Given the description of an element on the screen output the (x, y) to click on. 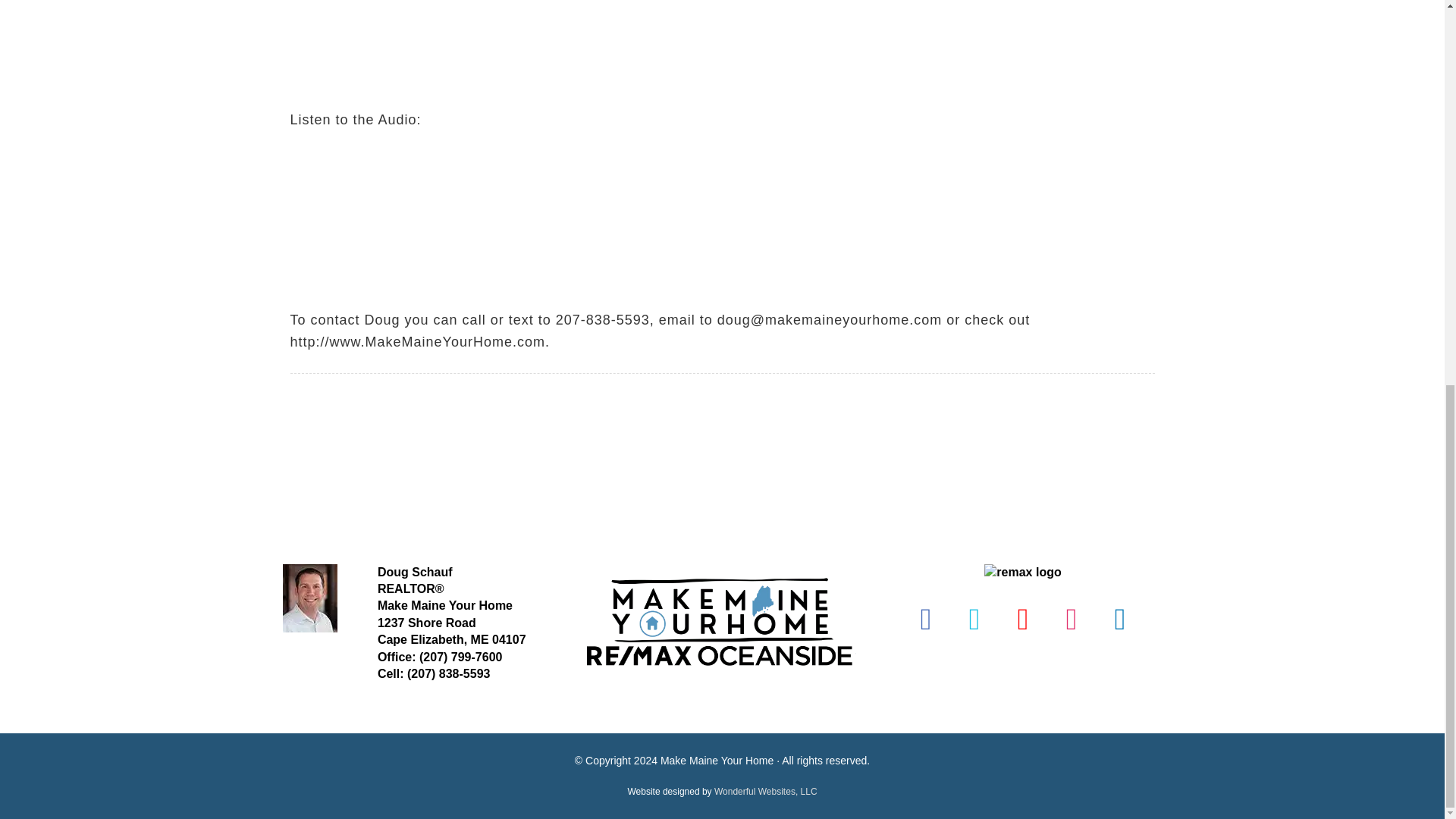
Follow on Instagram (1071, 618)
Follow on Twitter (974, 618)
Scroll to Top (1408, 58)
Top (1408, 58)
Wonderful Websites, LLC (765, 791)
Like on Facebook (925, 618)
Filming Locations Across MAINE (478, 20)
Make Maine Your Home (444, 604)
Connect on Linkedin (1120, 618)
Make Maine Your Home (722, 716)
